Given the description of an element on the screen output the (x, y) to click on. 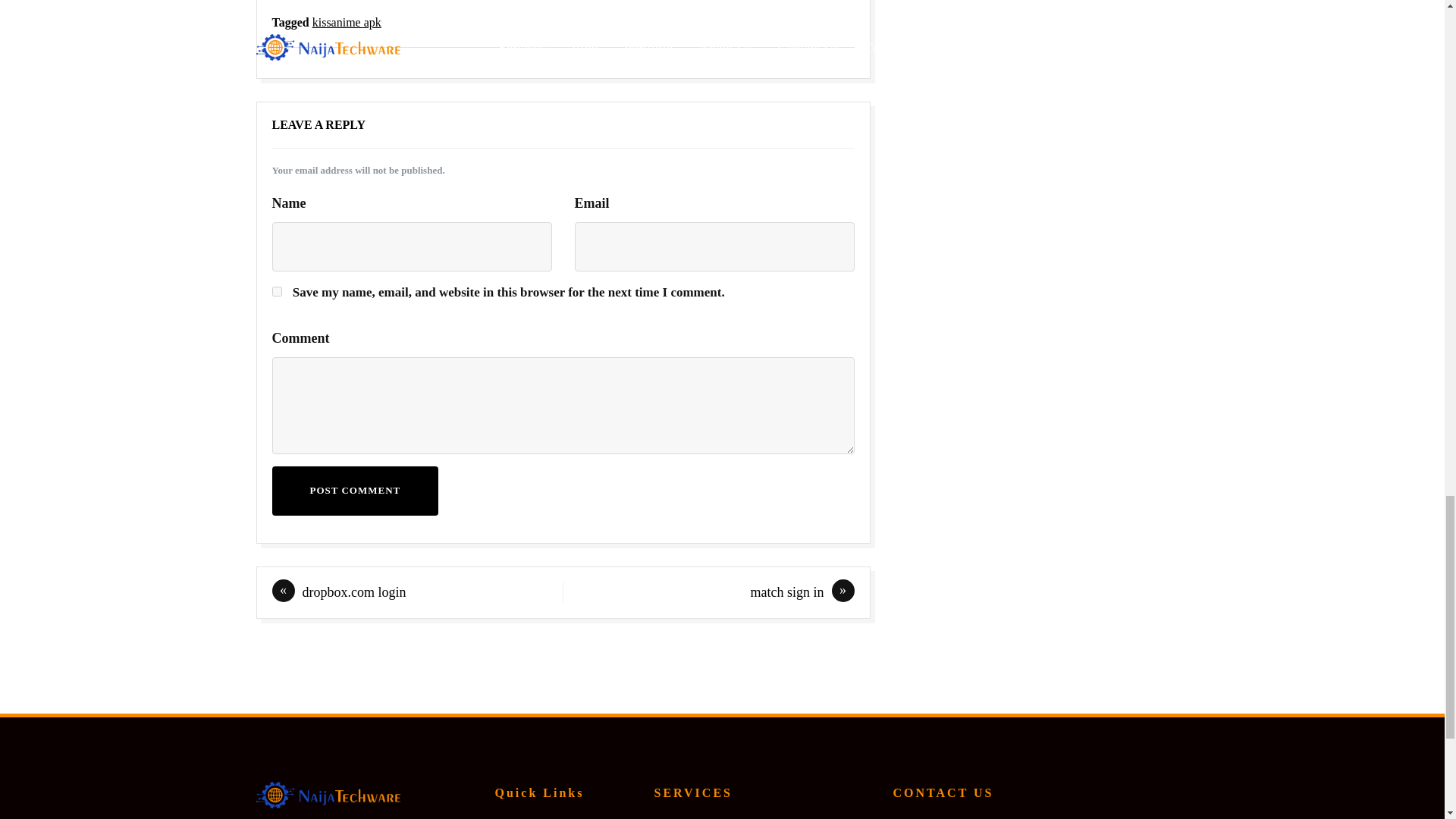
yes (275, 291)
match sign in (787, 591)
dropbox.com login (353, 591)
POST COMMENT (354, 490)
Services (517, 817)
Web Design (686, 817)
kissanime apk (347, 21)
